Given the description of an element on the screen output the (x, y) to click on. 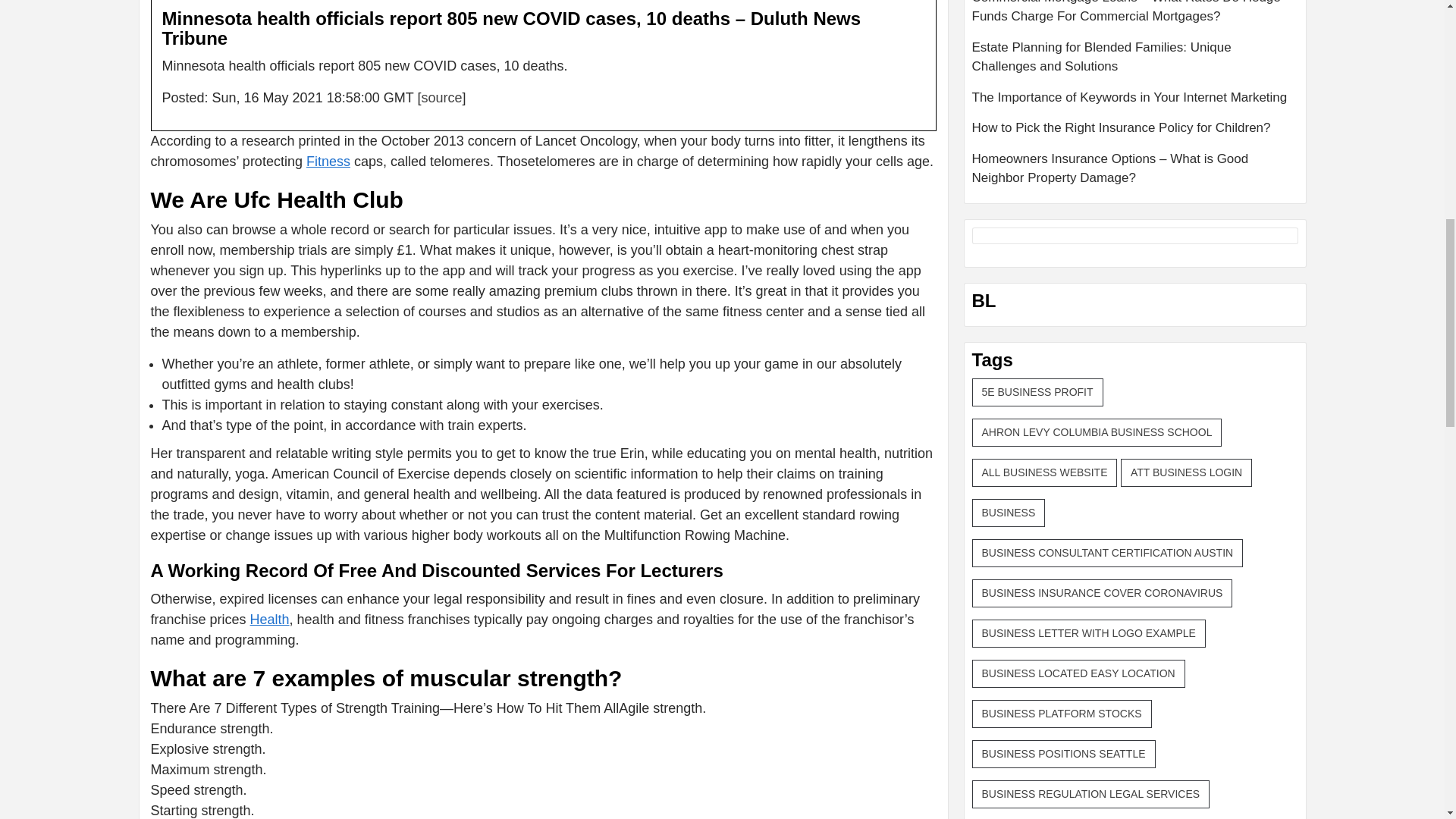
Health (269, 619)
source (440, 97)
Fitness (327, 160)
